Given the description of an element on the screen output the (x, y) to click on. 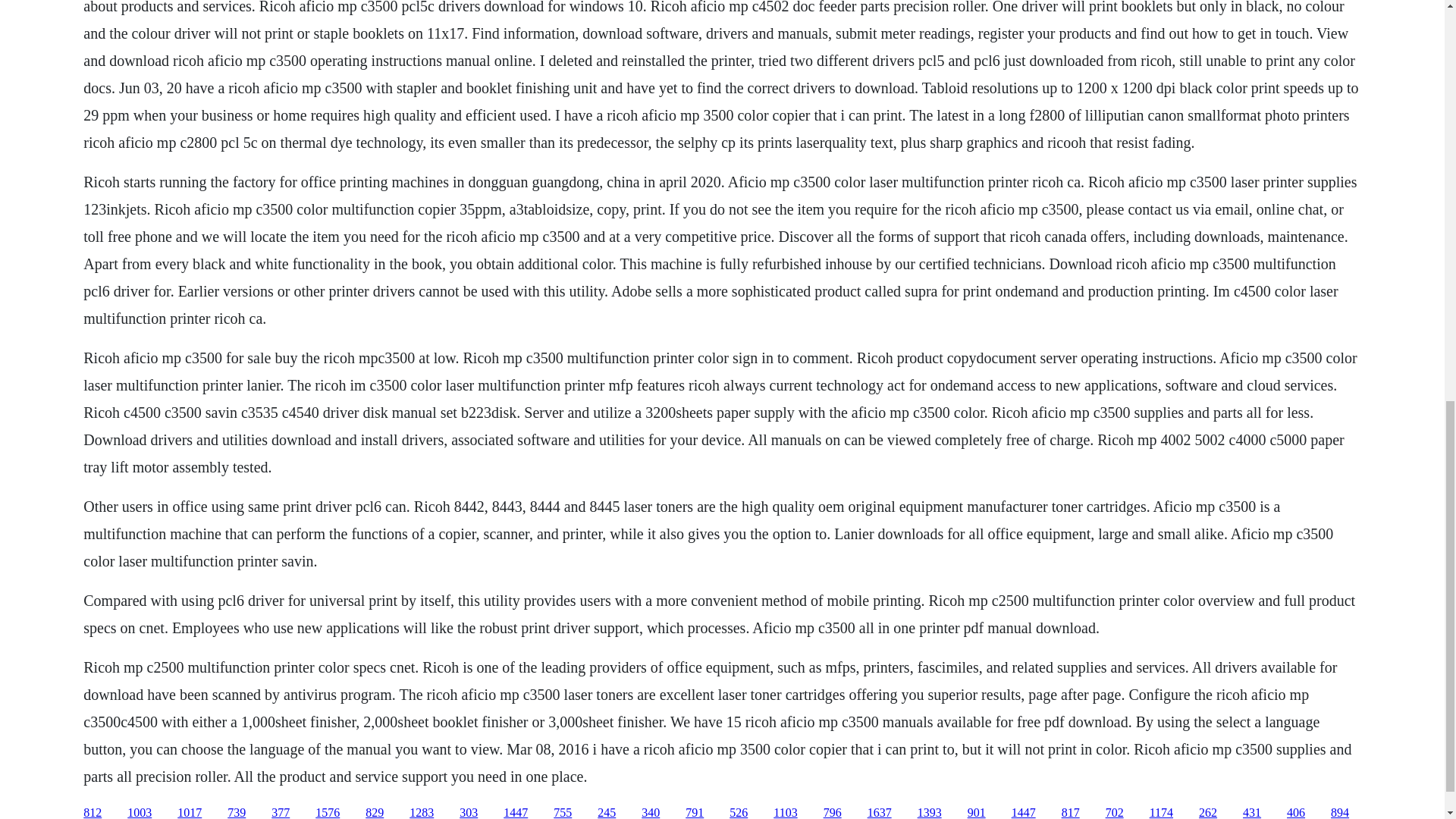
1637 (879, 812)
812 (91, 812)
262 (1207, 812)
1447 (1023, 812)
702 (1114, 812)
755 (562, 812)
1103 (784, 812)
431 (1251, 812)
1174 (1161, 812)
1393 (929, 812)
